Given the description of an element on the screen output the (x, y) to click on. 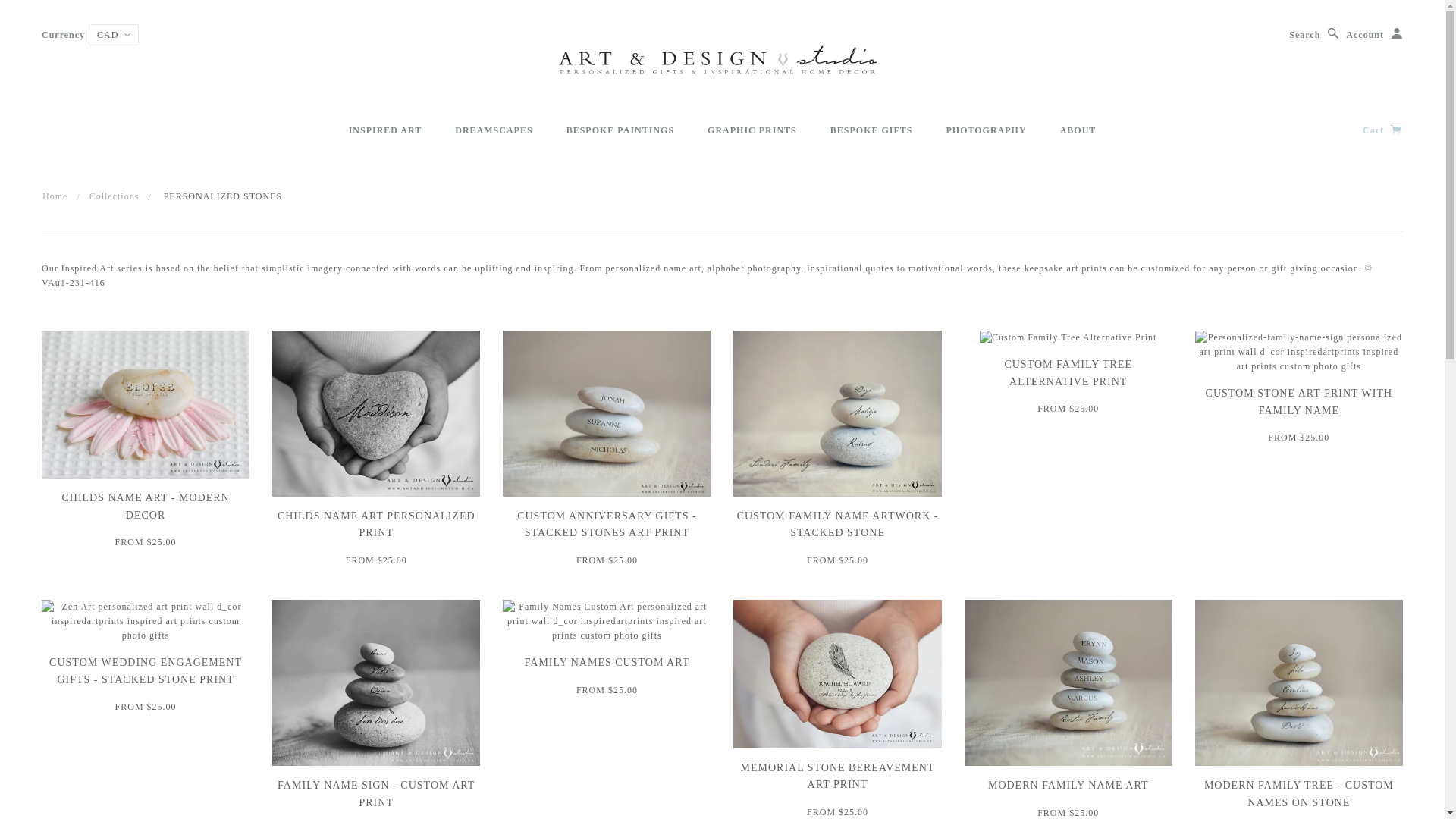
INSPIRED ART Element type: text (385, 130)
Collections Element type: text (114, 196)
Home Element type: text (54, 196)
CUSTOM FAMILY TREE ALTERNATIVE PRINT Element type: text (1068, 372)
artanddesignstudio.ca Element type: hover (721, 60)
DREAMSCAPES Element type: text (493, 130)
FAMILY NAMES CUSTOM ART Element type: text (607, 662)
GRAPHIC PRINTS Element type: text (752, 130)
ABOUT Element type: text (1077, 130)
PHOTOGRAPHY Element type: text (986, 130)
CUSTOM STONE ART PRINT WITH FAMILY NAME Element type: text (1299, 401)
CUSTOM WEDDING ENGAGEMENT GIFTS - STACKED STONE PRINT Element type: text (145, 670)
MODERN FAMILY NAME ART Element type: text (1068, 784)
Cart Element type: text (1382, 130)
BESPOKE PAINTINGS Element type: text (620, 130)
CHILDS NAME ART - MODERN DECOR Element type: text (145, 506)
Search Element type: text (1314, 35)
MEMORIAL STONE BEREAVEMENT ART PRINT Element type: text (837, 776)
CUSTOM FAMILY NAME ARTWORK - STACKED STONE Element type: text (837, 524)
CHILDS NAME ART PERSONALIZED PRINT Element type: text (376, 524)
Account Element type: text (1374, 35)
MODERN FAMILY TREE - CUSTOM NAMES ON STONE Element type: text (1298, 793)
CUSTOM ANNIVERSARY GIFTS - STACKED STONES ART PRINT Element type: text (606, 524)
FAMILY NAME SIGN - CUSTOM ART PRINT Element type: text (375, 793)
BESPOKE GIFTS Element type: text (871, 130)
